Given the description of an element on the screen output the (x, y) to click on. 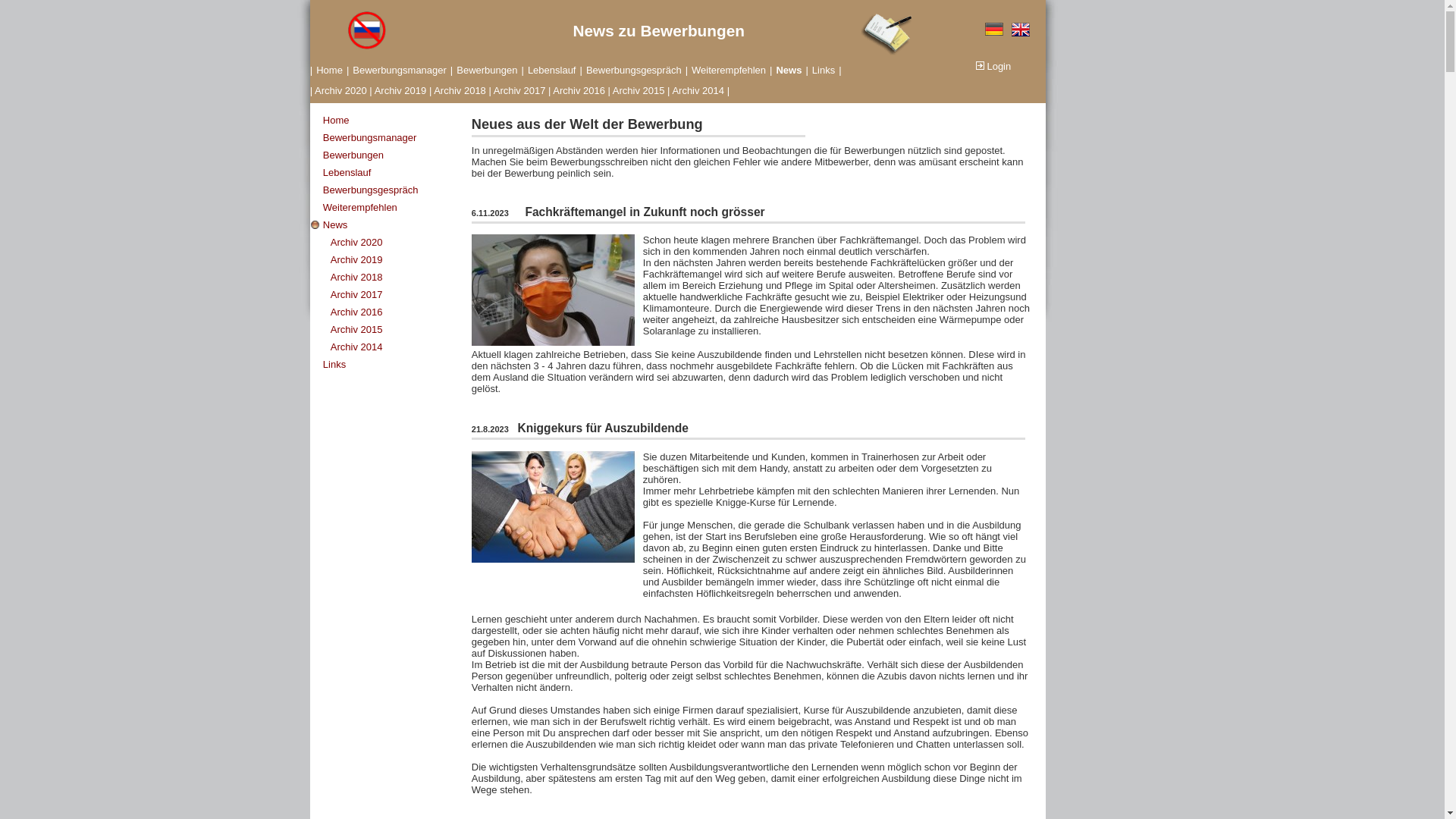
Archiv 2014 Element type: text (697, 90)
Home Element type: text (329, 70)
Links Element type: text (823, 70)
Archiv 2018 Element type: text (459, 90)
Archiv 2018 Element type: text (398, 279)
Archiv 2016 Element type: text (398, 314)
Archiv 2014 Element type: text (398, 349)
Links Element type: text (391, 367)
Archiv 2017 Element type: text (398, 297)
Weiterempfehlen Element type: text (728, 70)
Archiv 2020 Element type: text (398, 245)
Archiv 2019 Element type: text (398, 262)
News Element type: text (391, 227)
Archiv 2015 Element type: text (398, 332)
Archiv 2015 Element type: text (638, 90)
Archiv 2020 Element type: text (340, 90)
Lebenslauf Element type: text (552, 70)
Home Element type: text (391, 122)
Bewerbungsmanager Element type: text (391, 140)
Bewerbungsmanager Element type: text (399, 70)
English Element type: hover (1020, 29)
Archiv 2019 Element type: text (400, 90)
Bewerbungen Element type: text (486, 70)
Archiv 2017 Element type: text (519, 90)
News Element type: text (788, 70)
 Login Element type: text (991, 66)
Archiv 2016 Element type: text (578, 90)
Lebenslauf Element type: text (391, 175)
Weiterempfehlen Element type: text (391, 210)
Bewerbungen Element type: text (391, 157)
